Given the description of an element on the screen output the (x, y) to click on. 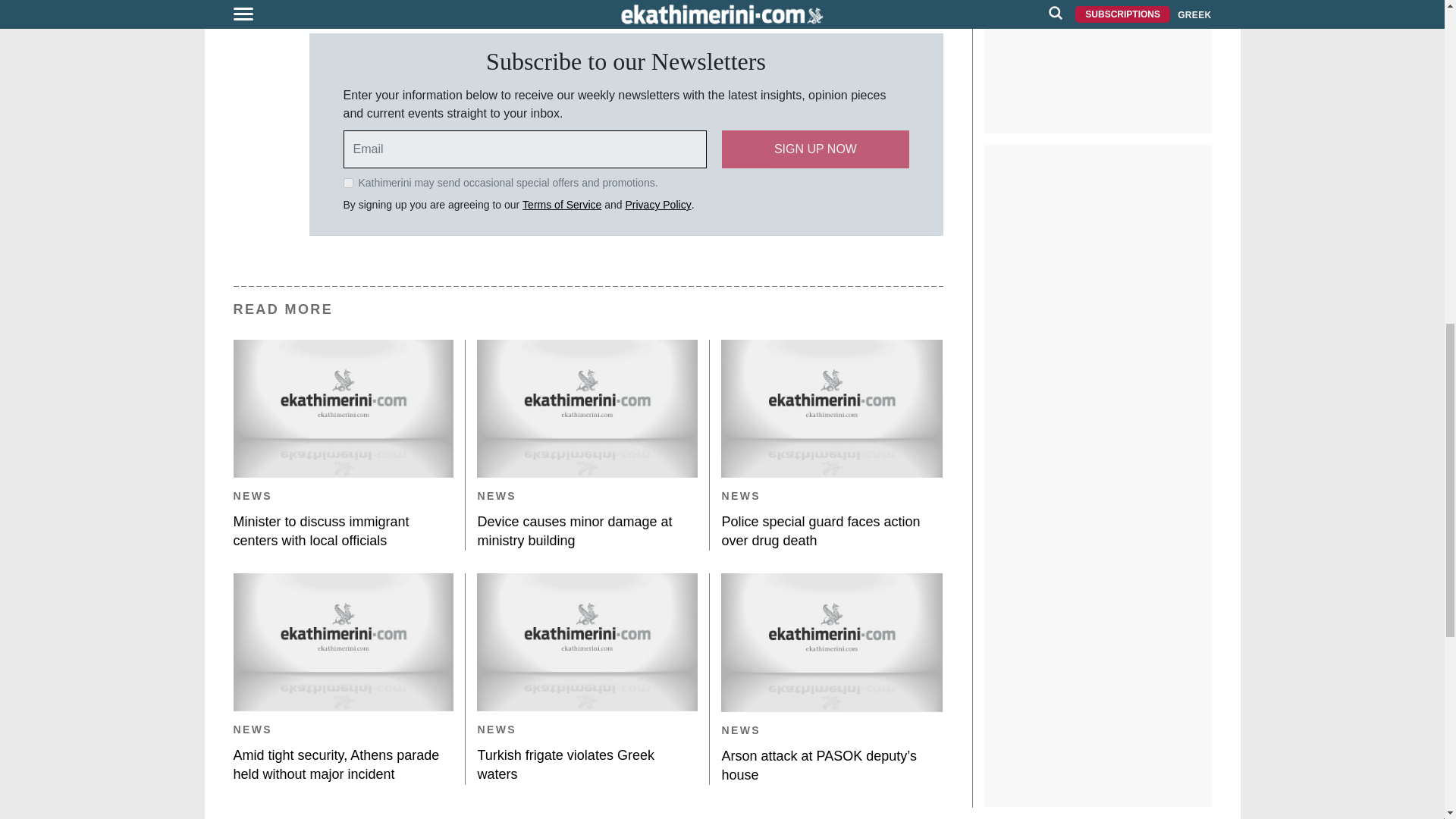
on (347, 183)
